Given the description of an element on the screen output the (x, y) to click on. 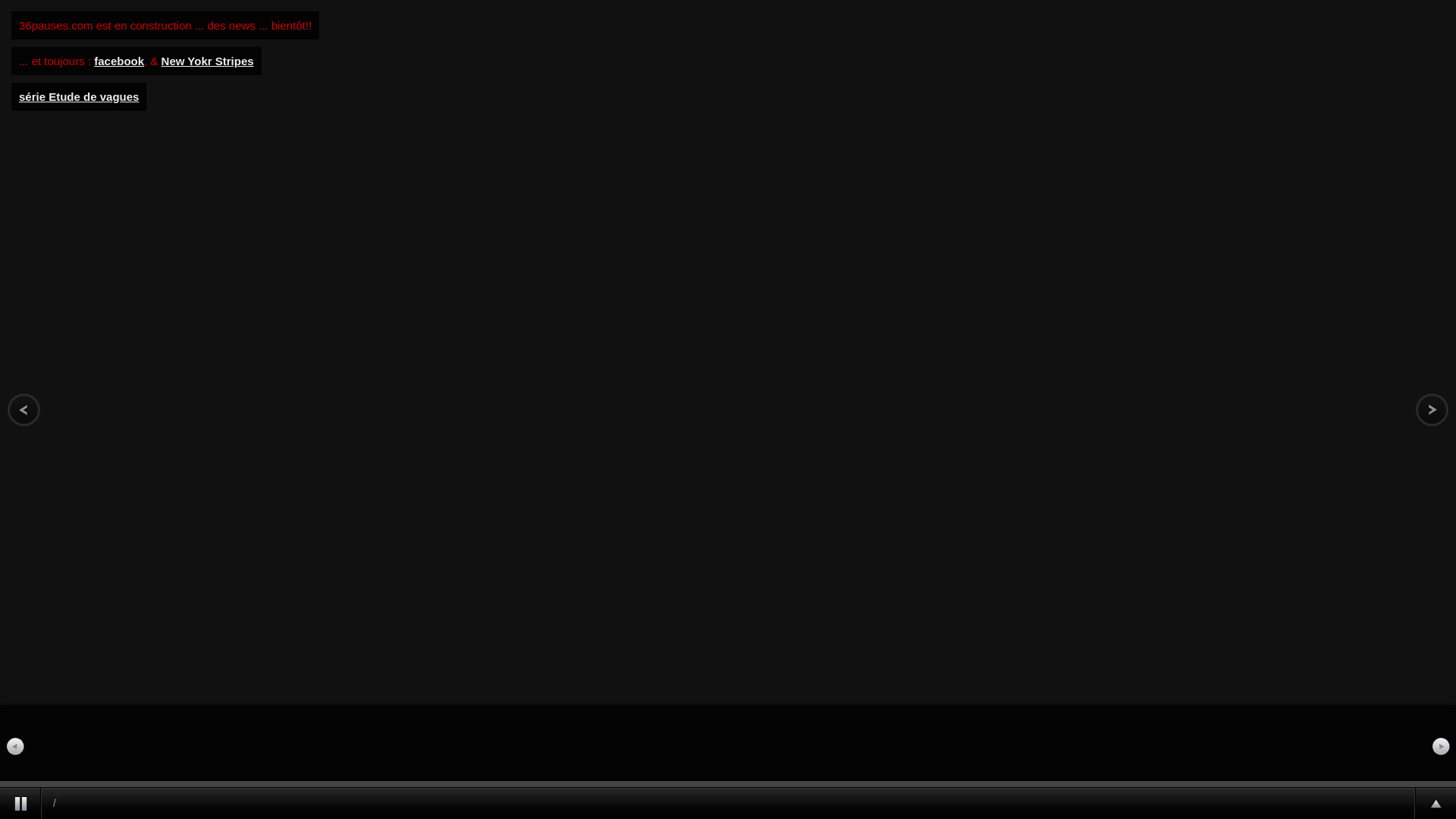
New Yokr Stripes Element type: text (207, 60)
facebook Element type: text (119, 60)
